Given the description of an element on the screen output the (x, y) to click on. 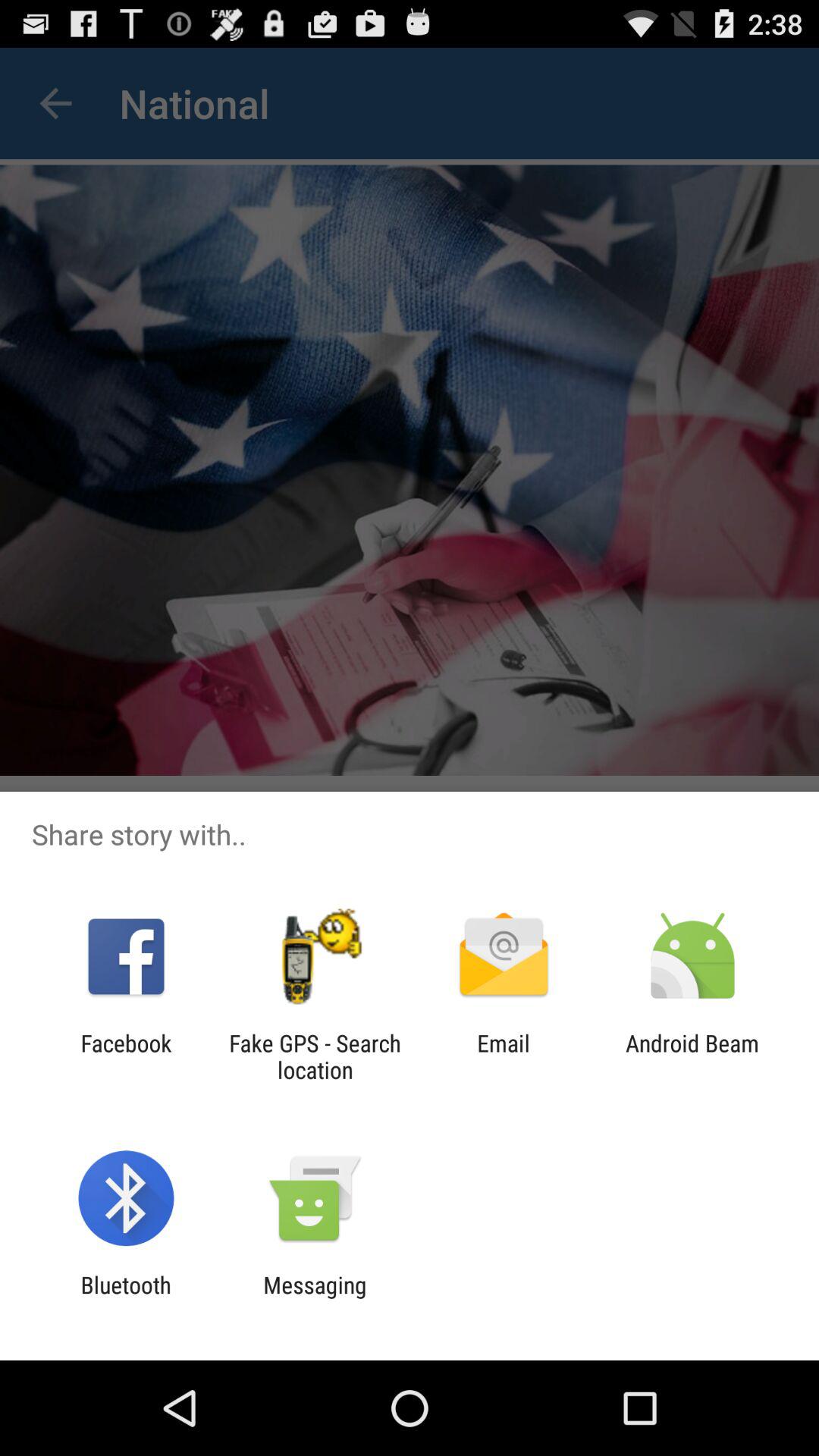
click item to the left of fake gps search item (125, 1056)
